Given the description of an element on the screen output the (x, y) to click on. 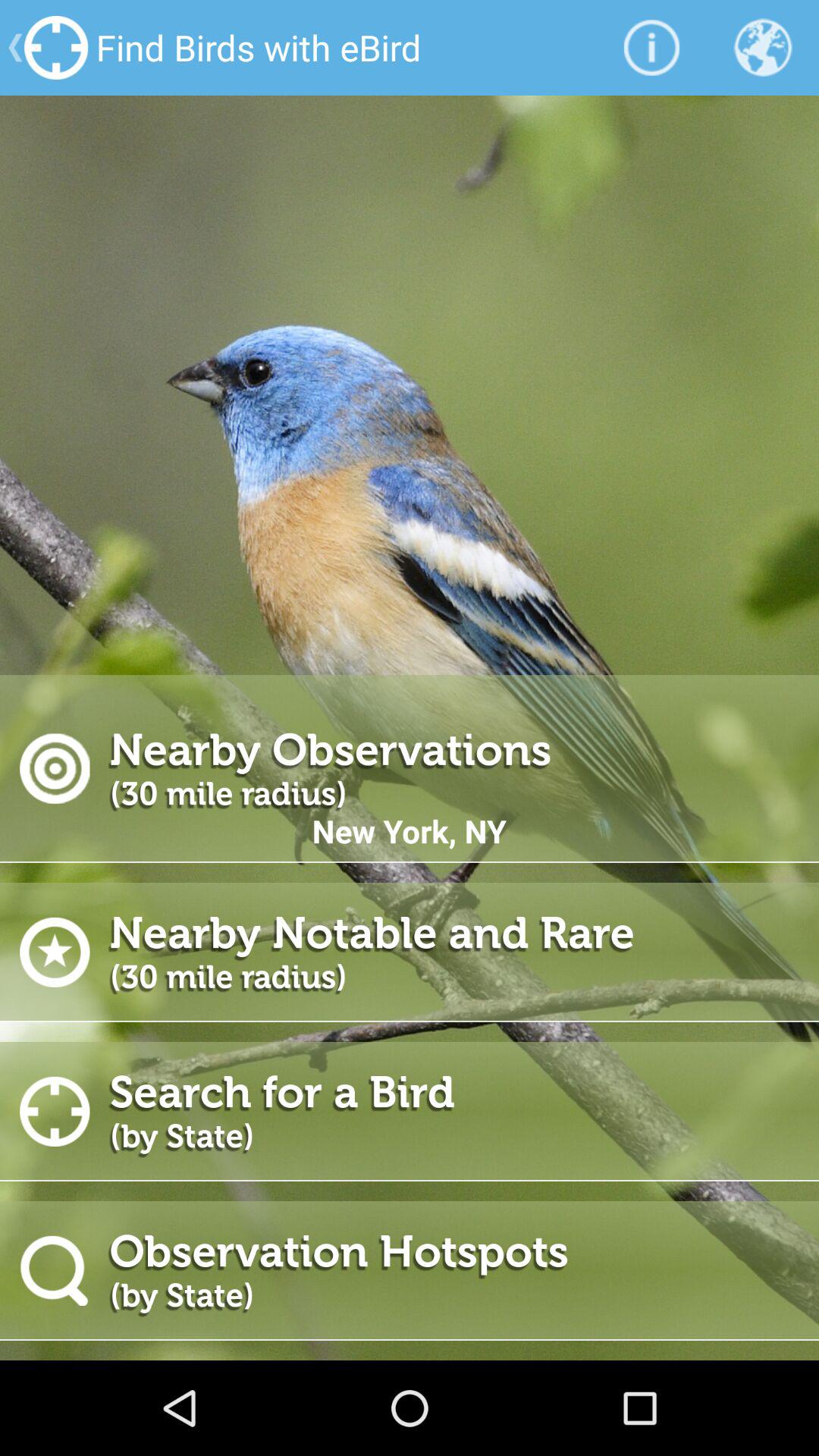
click icon next to the find birds with icon (651, 47)
